Given the description of an element on the screen output the (x, y) to click on. 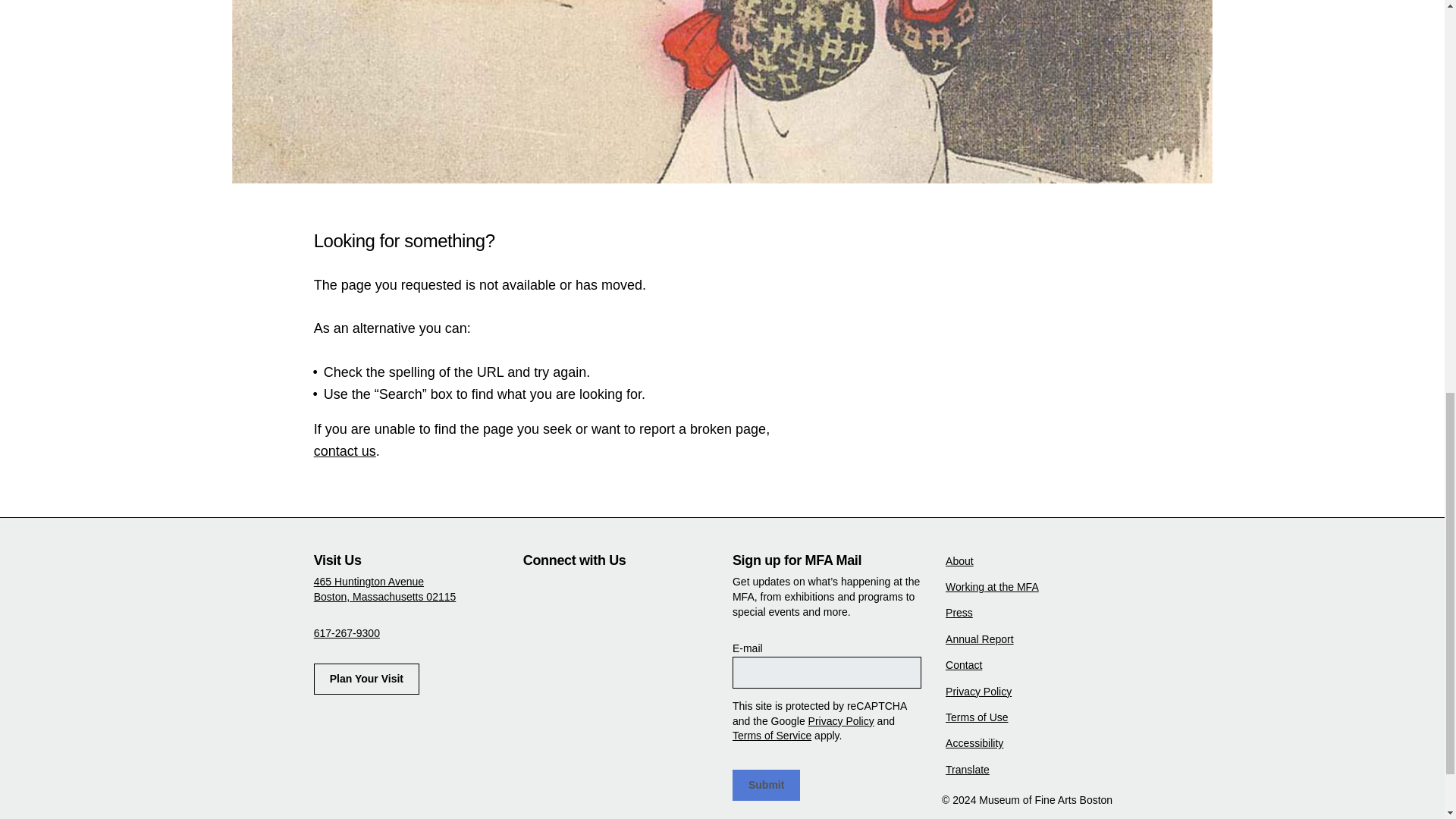
Submit (765, 785)
